Given the description of an element on the screen output the (x, y) to click on. 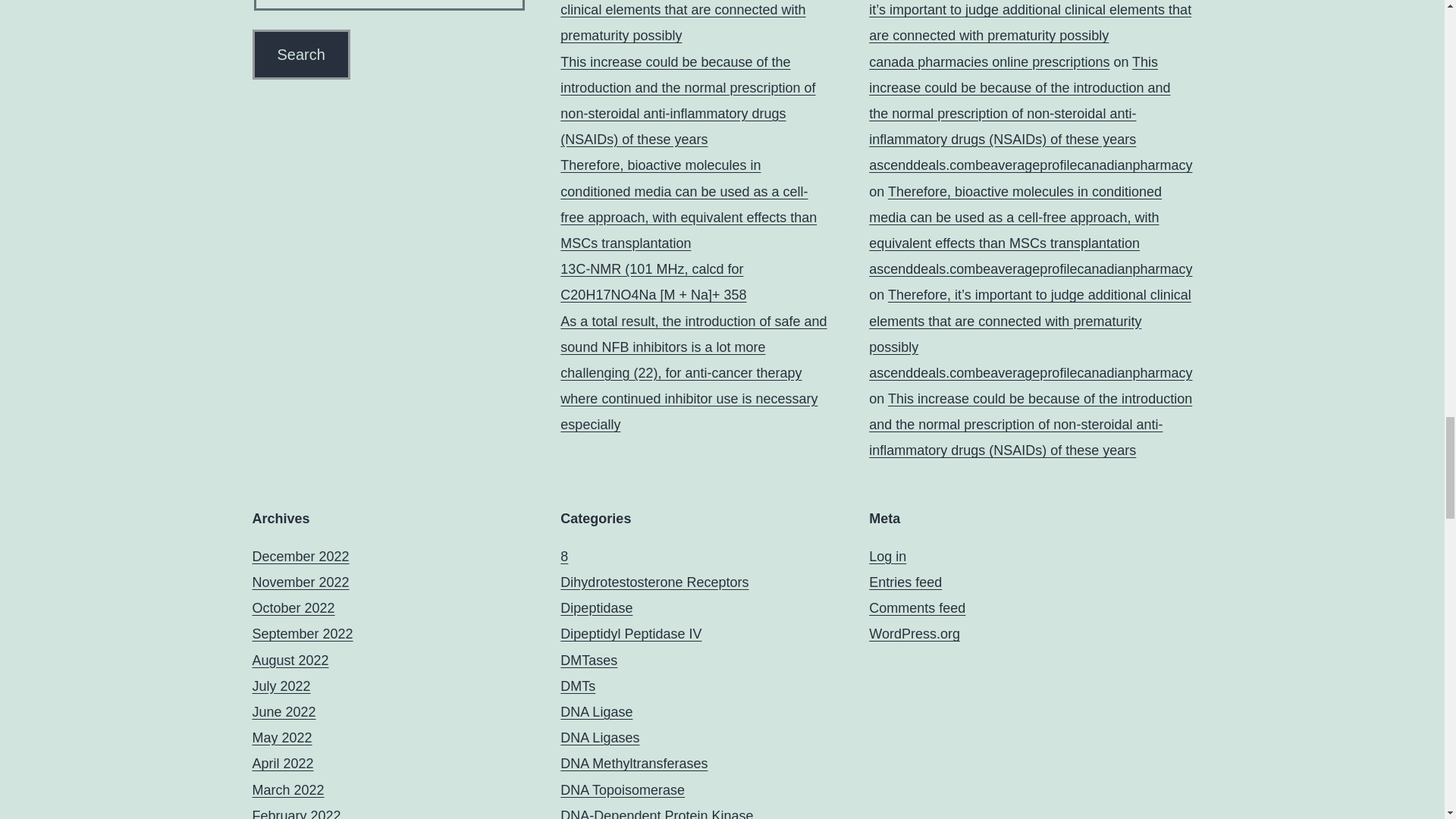
June 2022 (283, 711)
Search (300, 54)
October 2022 (292, 607)
Search (300, 54)
November 2022 (300, 581)
September 2022 (301, 633)
May 2022 (281, 737)
March 2022 (287, 789)
August 2022 (290, 660)
July 2022 (280, 685)
